Given the description of an element on the screen output the (x, y) to click on. 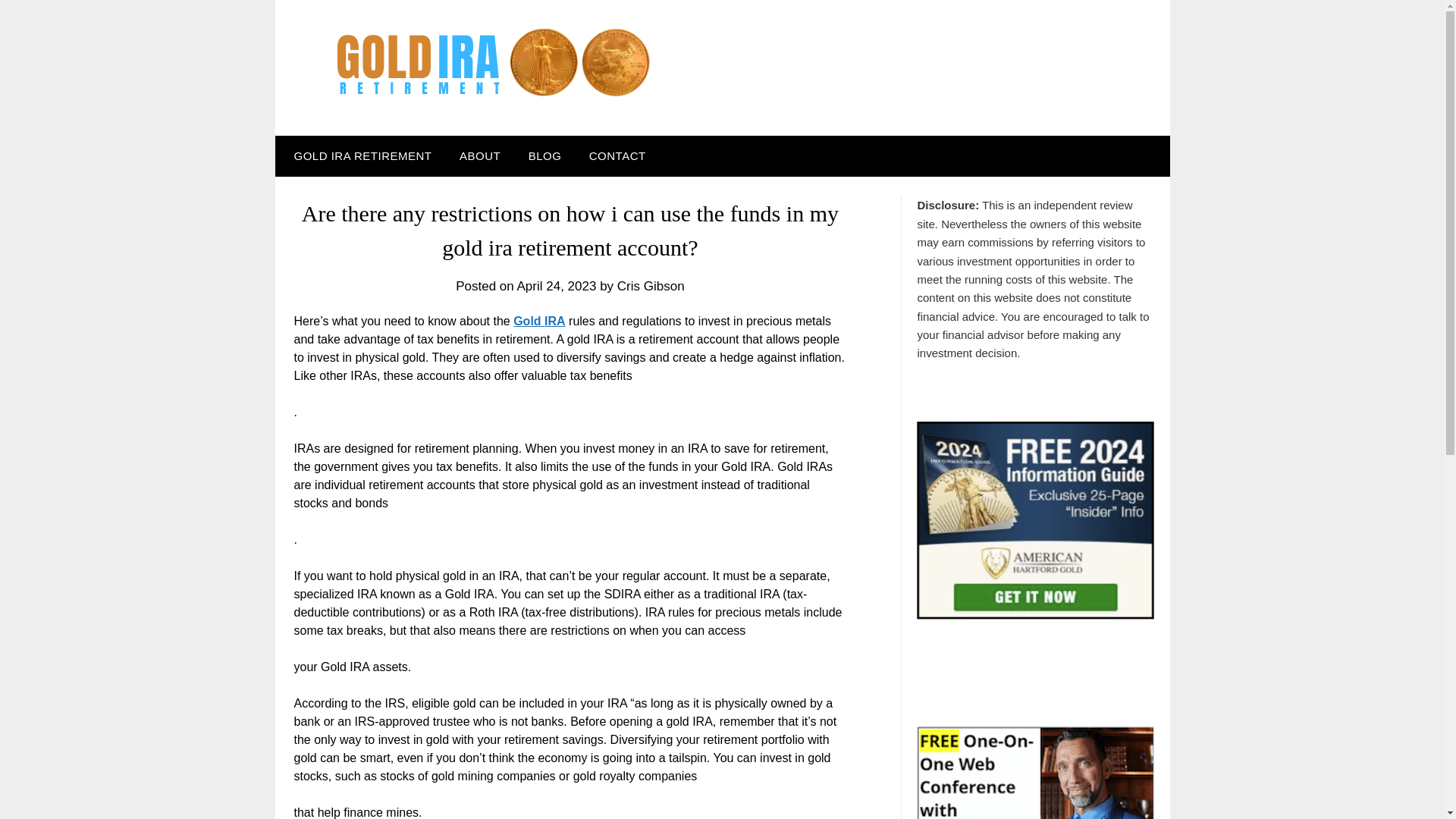
GOLD IRA RETIREMENT (359, 155)
April 24, 2023 (556, 286)
CONTACT (617, 155)
BLOG (544, 155)
ABOUT (479, 155)
Cris Gibson (650, 286)
Gold IRA (538, 320)
